Given the description of an element on the screen output the (x, y) to click on. 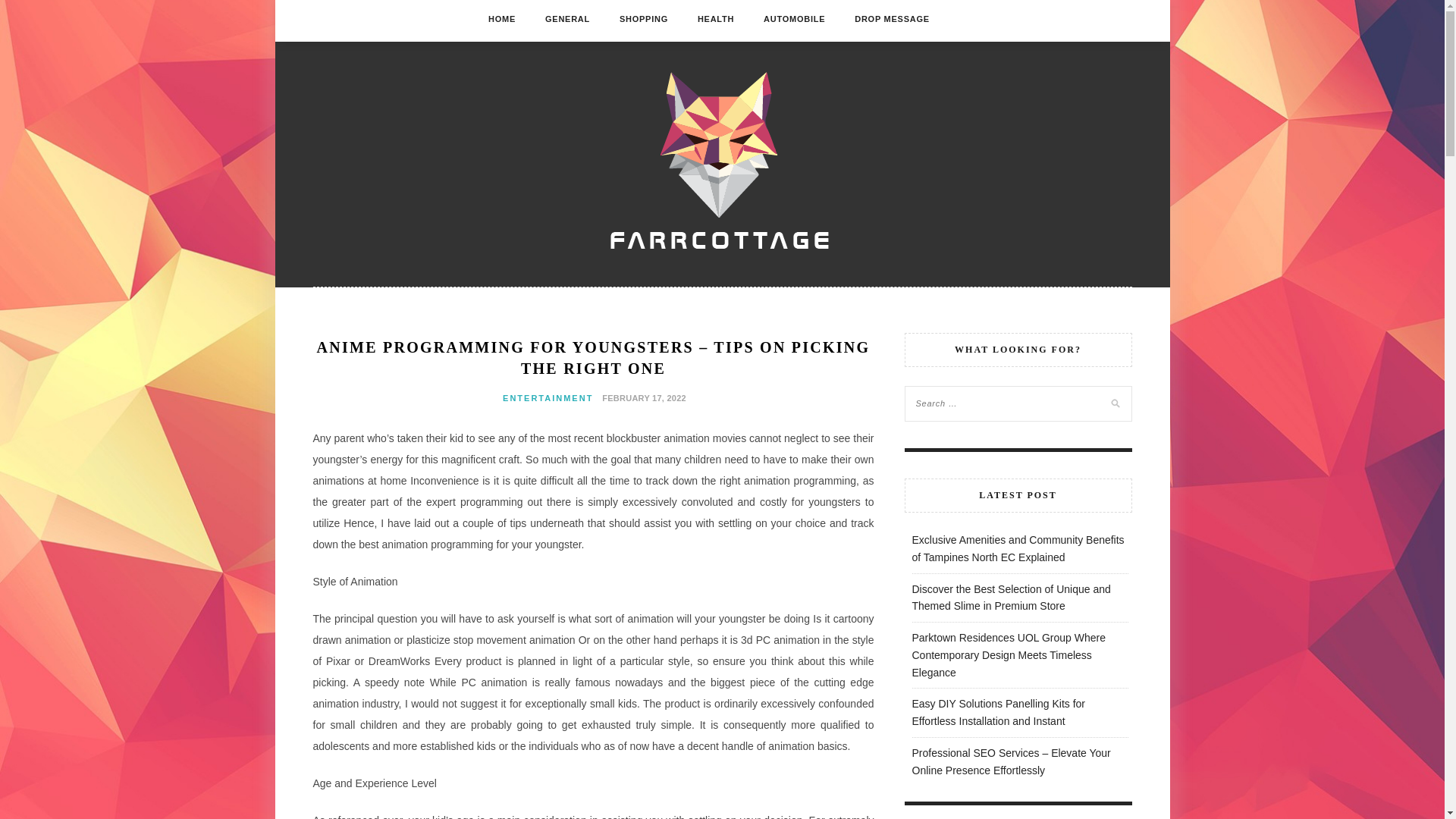
FEBRUARY 17, 2022 (641, 397)
ENTERTAINMENT (547, 397)
Search (28, 11)
DROP MESSAGE (892, 18)
HEALTH (715, 18)
SHOPPING (644, 18)
